Given the description of an element on the screen output the (x, y) to click on. 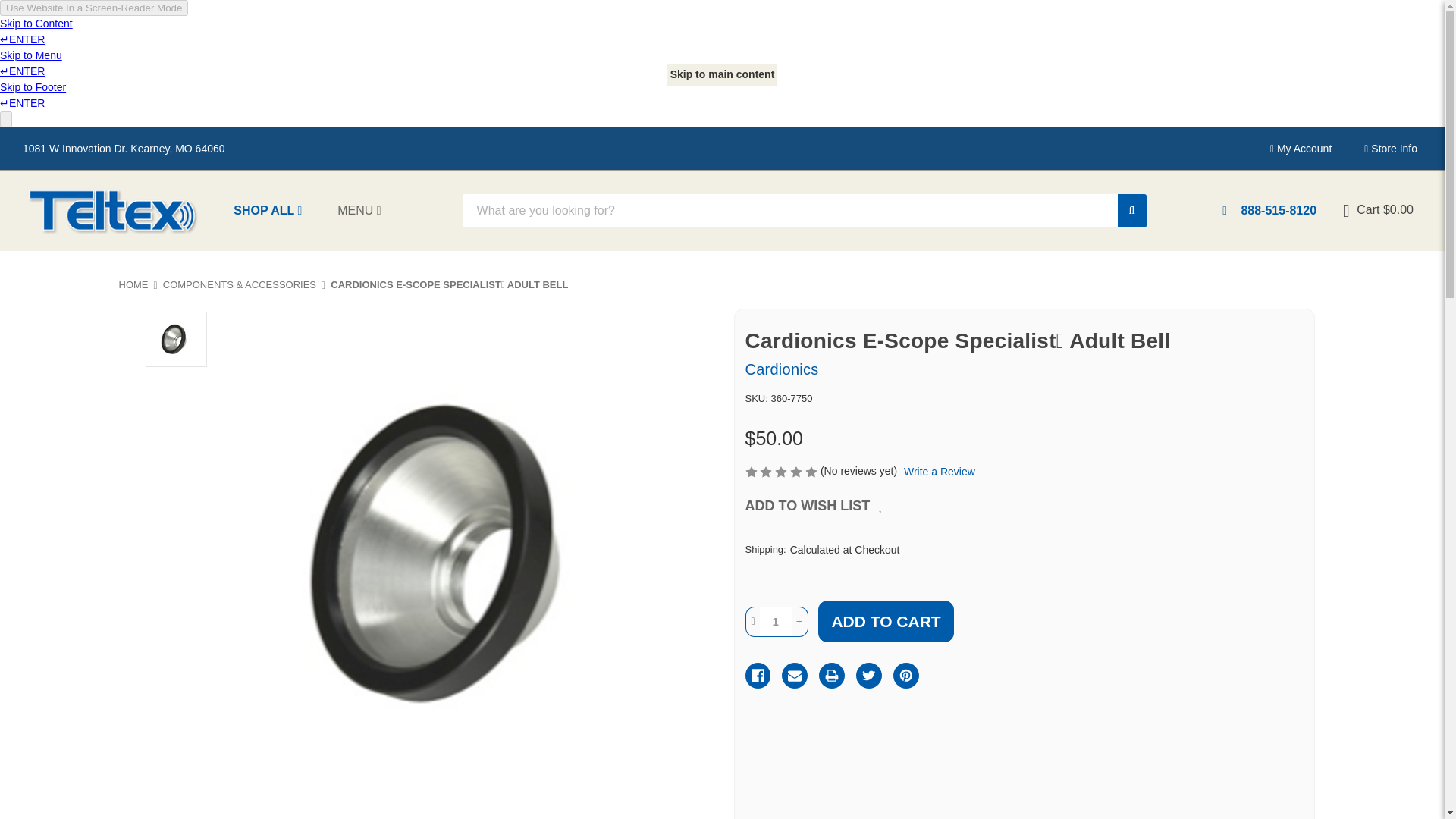
My Account (1300, 148)
Pinterest (905, 675)
Facebook (757, 675)
Add to Cart (885, 621)
Teltex, Inc. (113, 210)
Twitter (869, 675)
Print (831, 675)
Store Info (1390, 148)
Email (794, 675)
1 (776, 621)
Skip to main content (721, 74)
